Given the description of an element on the screen output the (x, y) to click on. 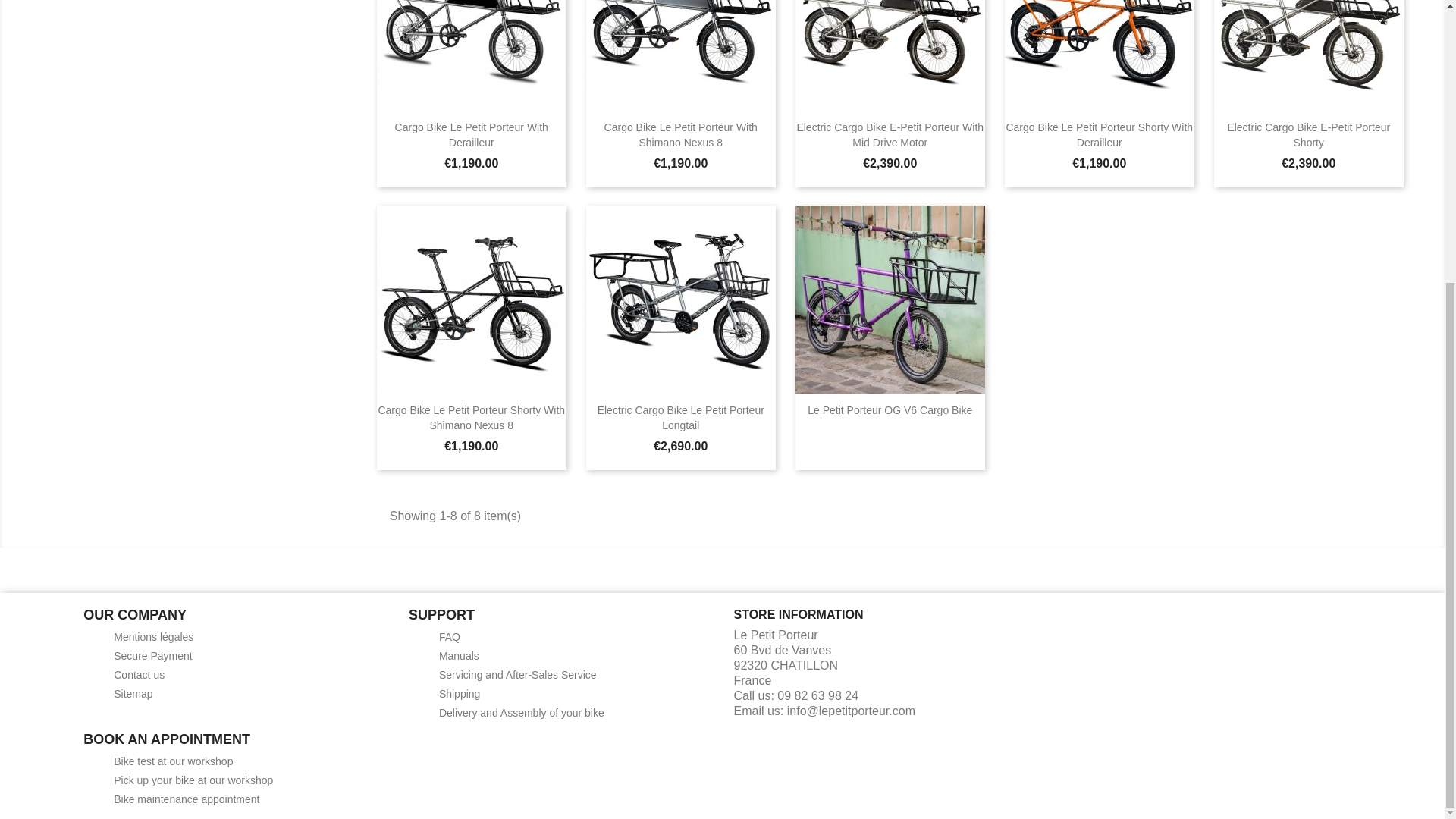
Use our form to contact us (138, 674)
Shipping Policy (459, 693)
Lost ? Find what your are looking for (132, 693)
